Given the description of an element on the screen output the (x, y) to click on. 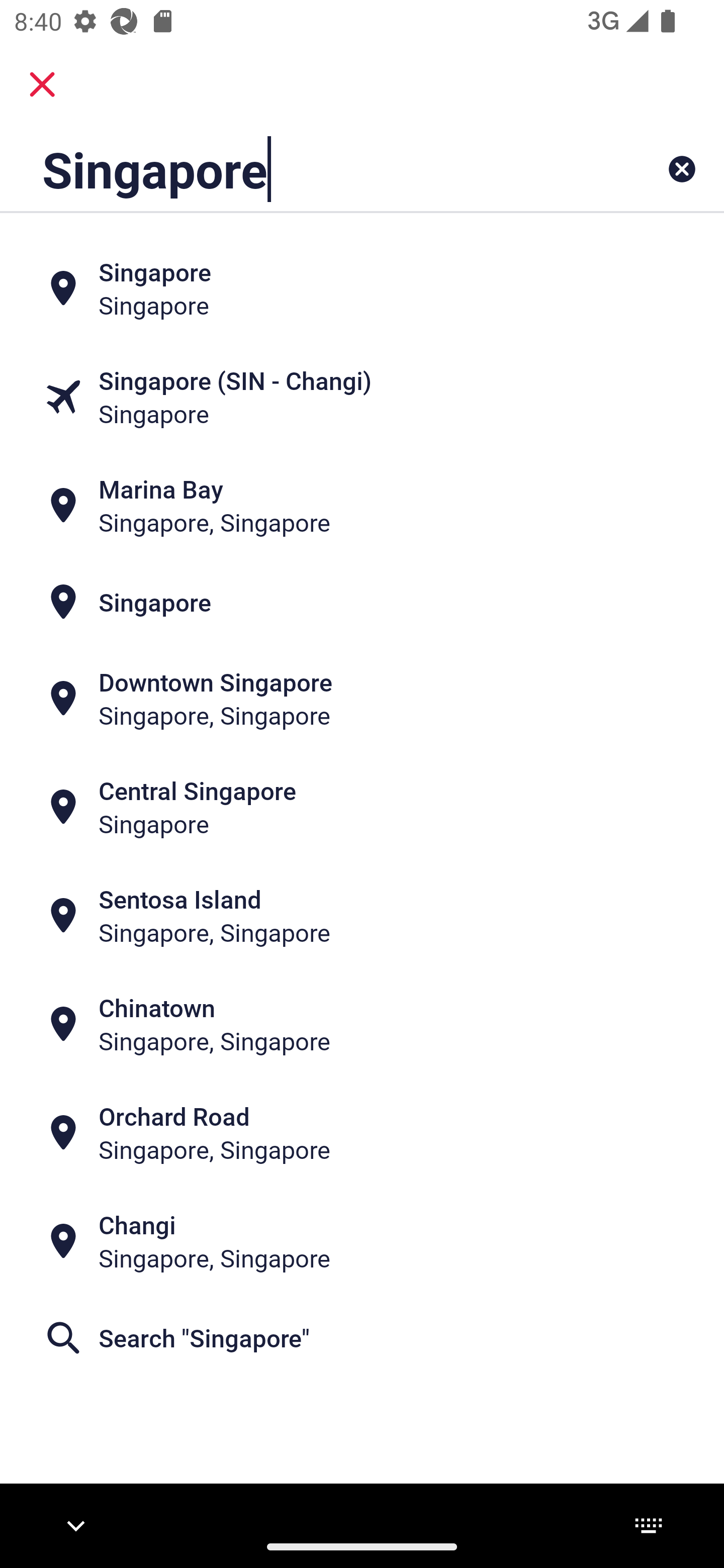
close. (42, 84)
Clear (681, 169)
Singapore (298, 169)
Singapore (362, 288)
Singapore (SIN - Changi) Singapore (362, 397)
Marina Bay Singapore, Singapore (362, 505)
Singapore (362, 601)
Downtown Singapore Singapore, Singapore (362, 698)
Central Singapore Singapore (362, 806)
Sentosa Island Singapore, Singapore (362, 915)
Chinatown Singapore, Singapore (362, 1024)
Orchard Road Singapore, Singapore (362, 1132)
Changi Singapore, Singapore (362, 1240)
Search "Singapore" (361, 1337)
